Given the description of an element on the screen output the (x, y) to click on. 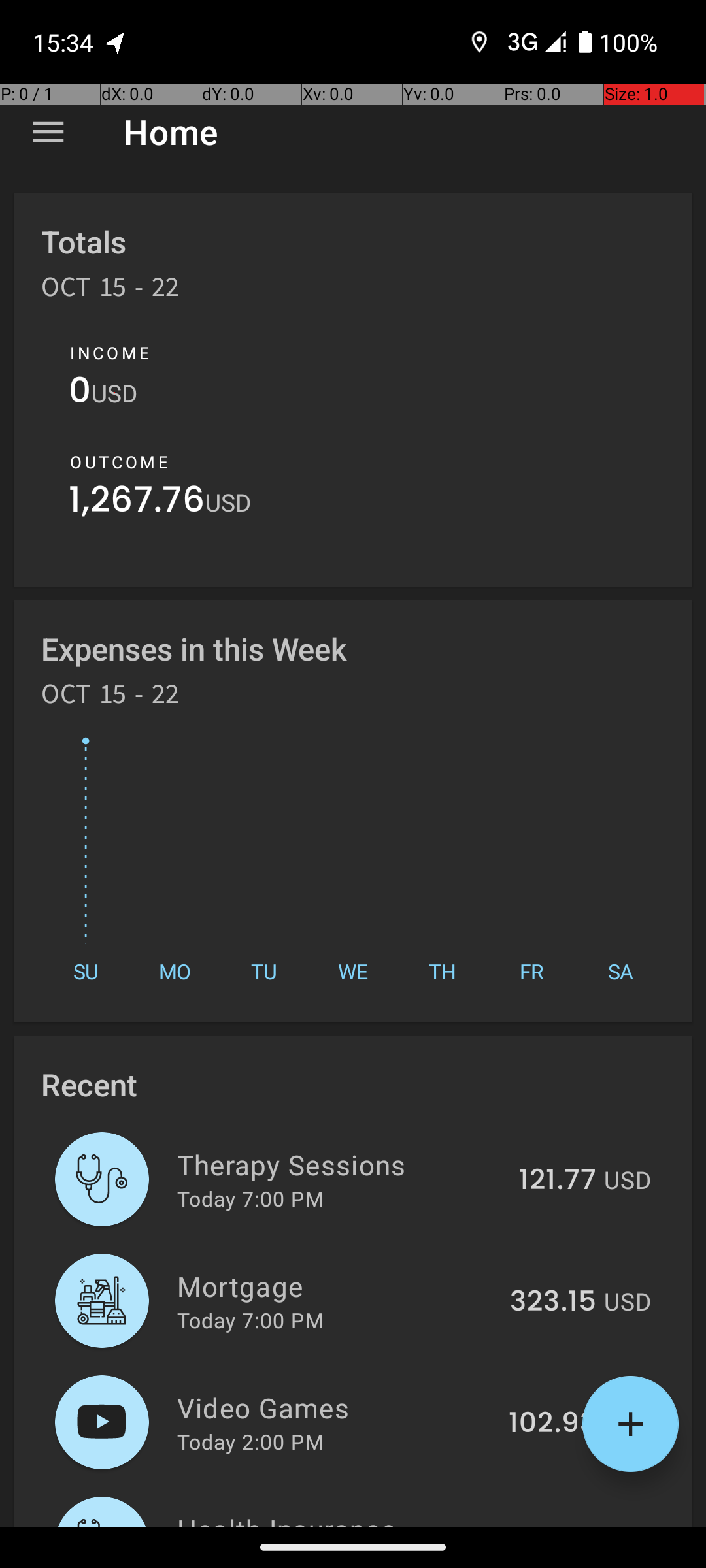
1,267.76 Element type: android.widget.TextView (136, 502)
Therapy Sessions Element type: android.widget.TextView (340, 1164)
Today 7:00 PM Element type: android.widget.TextView (250, 1198)
121.77 Element type: android.widget.TextView (557, 1180)
Mortgage Element type: android.widget.TextView (335, 1285)
323.15 Element type: android.widget.TextView (552, 1301)
Video Games Element type: android.widget.TextView (335, 1407)
Today 2:00 PM Element type: android.widget.TextView (250, 1441)
102.93 Element type: android.widget.TextView (551, 1423)
Health Insurance Element type: android.widget.TextView (340, 1518)
297.6 Element type: android.widget.TextView (557, 1524)
